Given the description of an element on the screen output the (x, y) to click on. 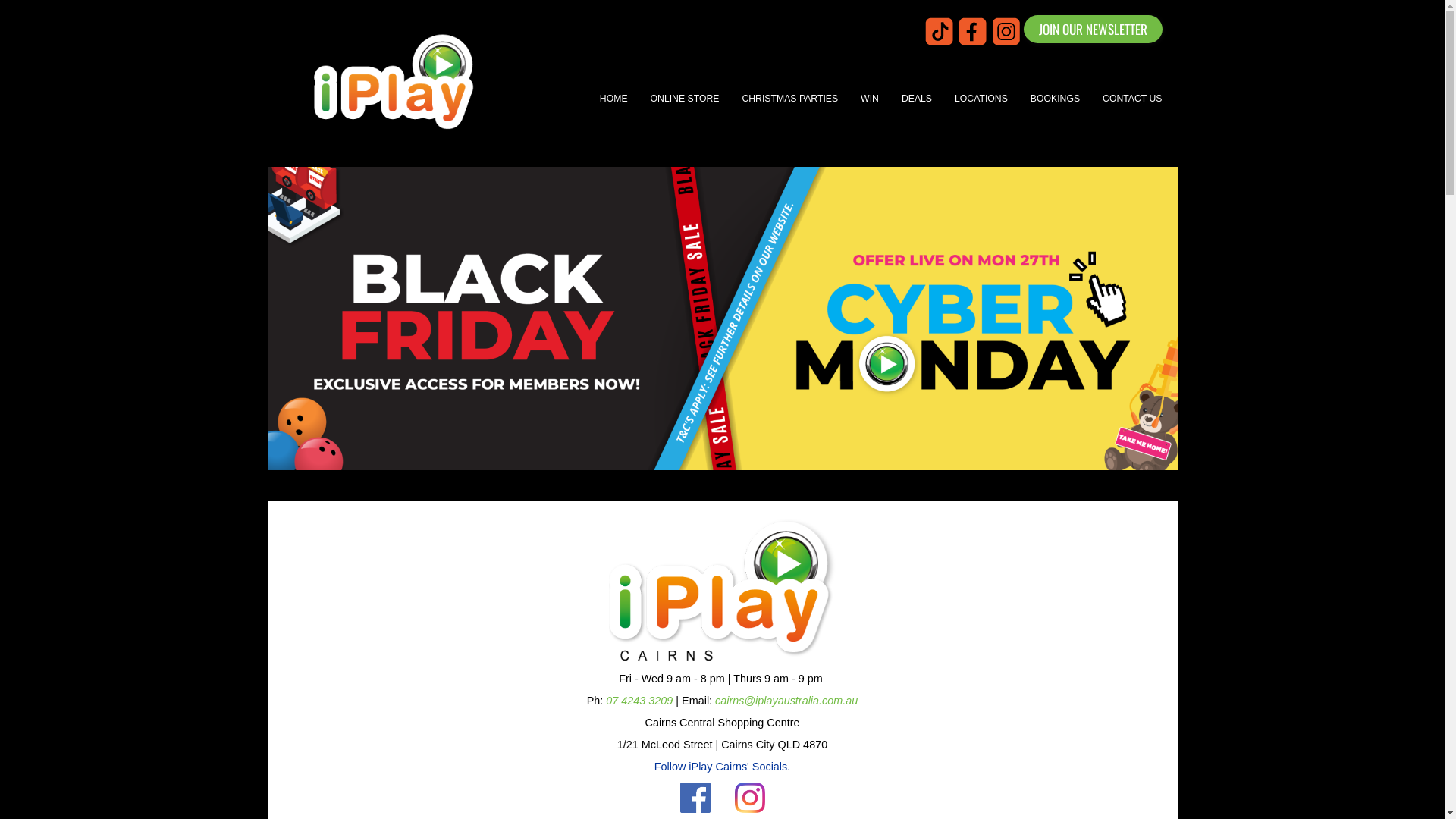
cairns@iplayaustralia.com.au Element type: text (786, 700)
DEALS Element type: text (916, 98)
HOME Element type: text (613, 98)
JOIN OUR NEWSLETTER Element type: text (1092, 29)
CONTACT US Element type: text (1131, 98)
WIN Element type: text (869, 98)
CHRISTMAS PARTIES Element type: text (789, 98)
07 4243 3209 Element type: text (638, 700)
ONLINE STORE Element type: text (684, 98)
